Given the description of an element on the screen output the (x, y) to click on. 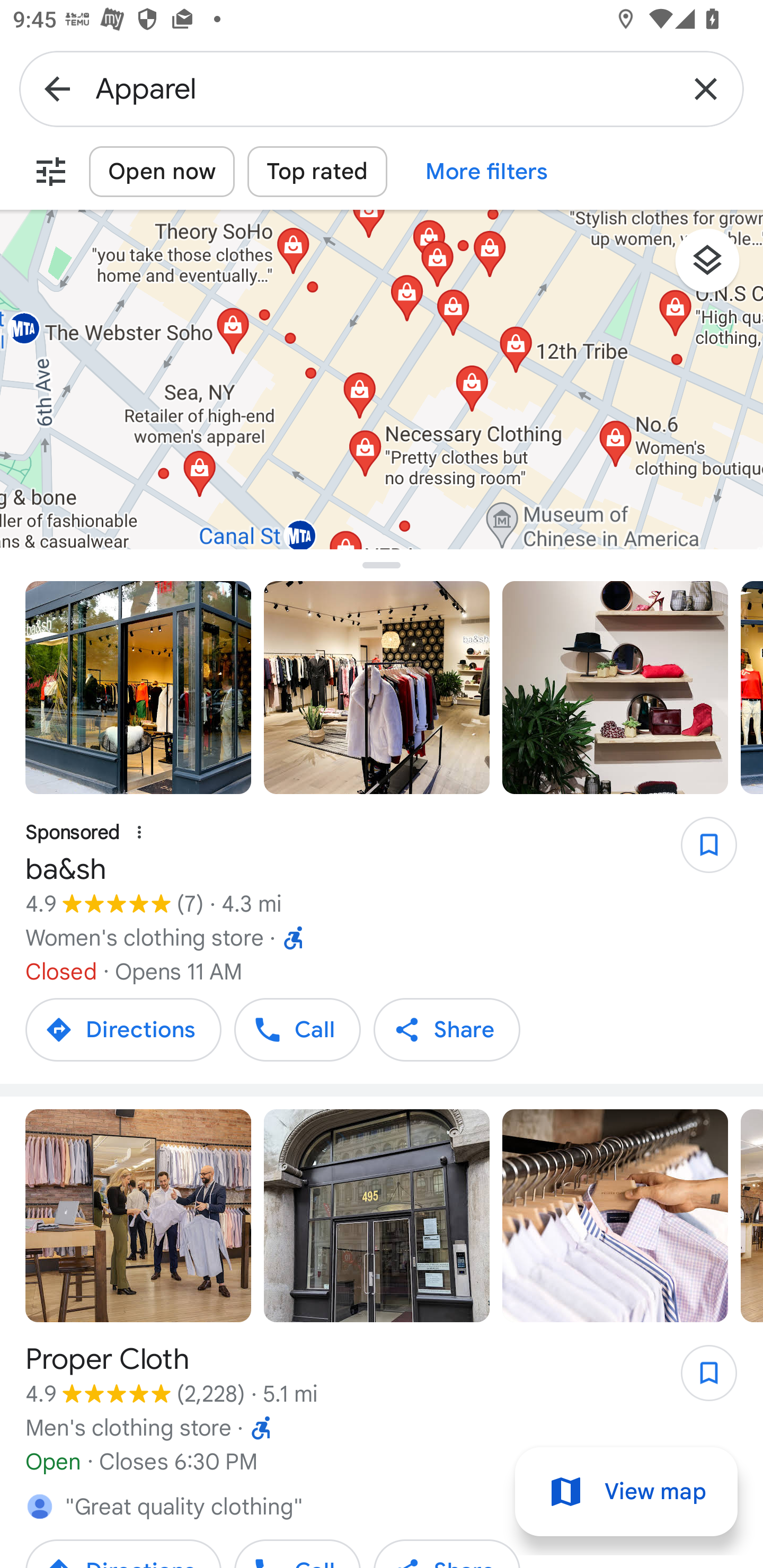
Back (57, 88)
Apparel (381, 88)
Clear (705, 88)
More filters (50, 171)
Open now Open now Open now (162, 171)
Top rated Top rated Top rated (317, 171)
More filters More filters More filters (486, 171)
Layers (716, 267)
Photo (138, 687)
Photo (376, 687)
Photo (614, 687)
About this ad (139, 832)
Save ba&sh to lists (699, 851)
Share ba&sh Share Share ba&sh (446, 1028)
Photo (138, 1214)
Photo (376, 1214)
Photo (614, 1214)
Save Proper Cloth to lists (699, 1378)
View map Map view (626, 1491)
